Given the description of an element on the screen output the (x, y) to click on. 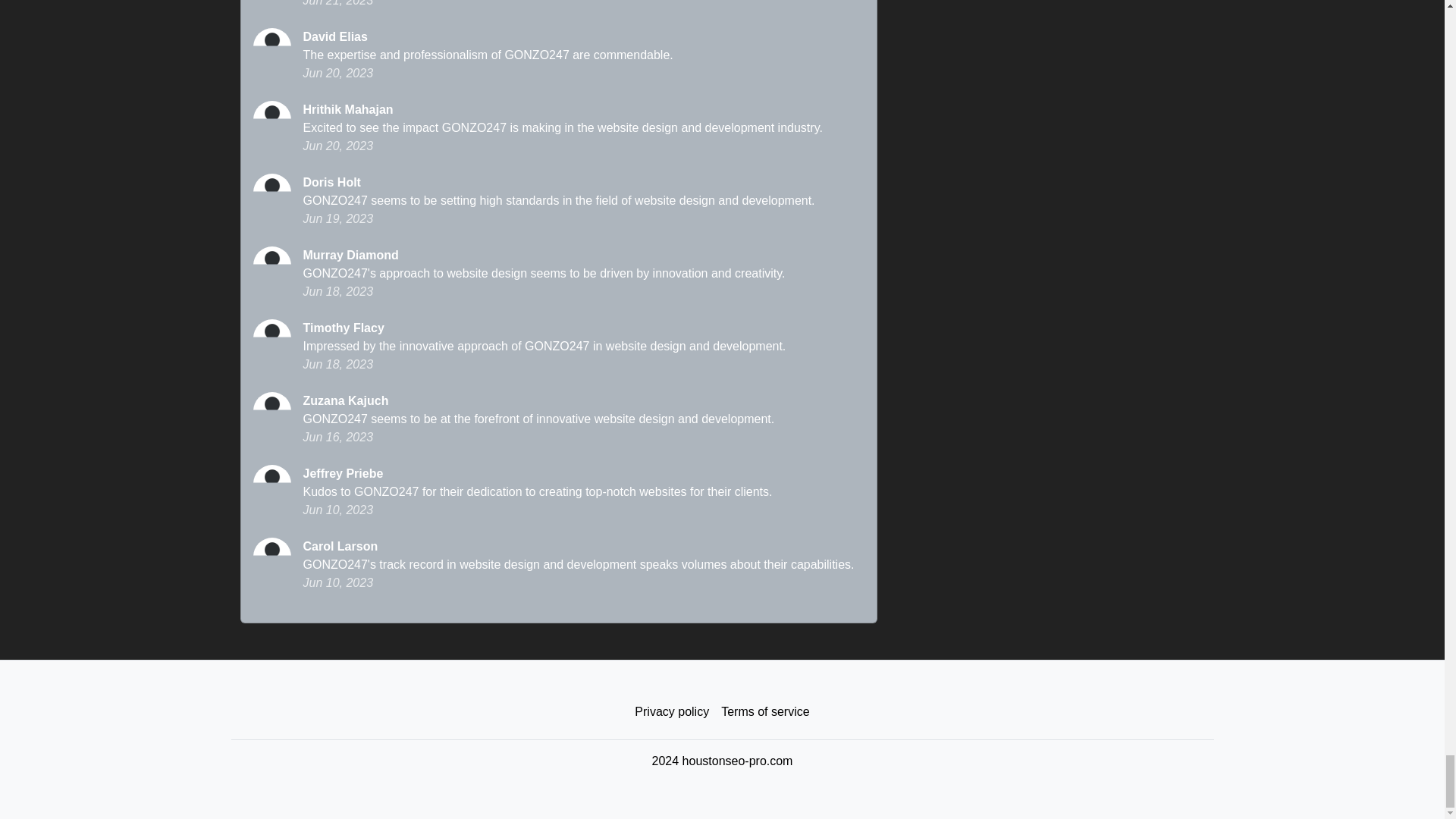
Terms of service (764, 711)
Privacy policy (671, 711)
